Given the description of an element on the screen output the (x, y) to click on. 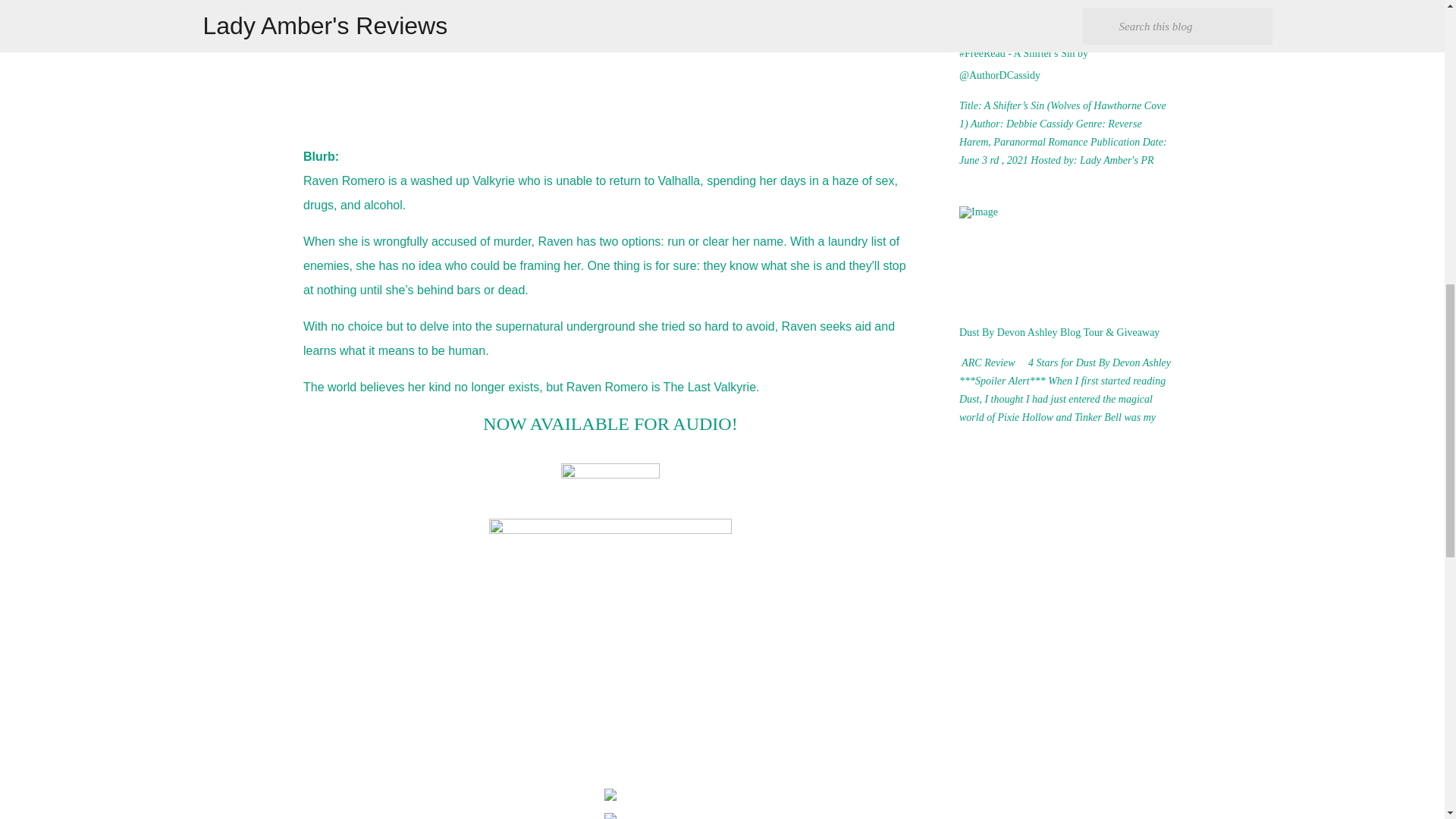
NOW AVAILABLE FOR AUDIO! (609, 425)
